Given the description of an element on the screen output the (x, y) to click on. 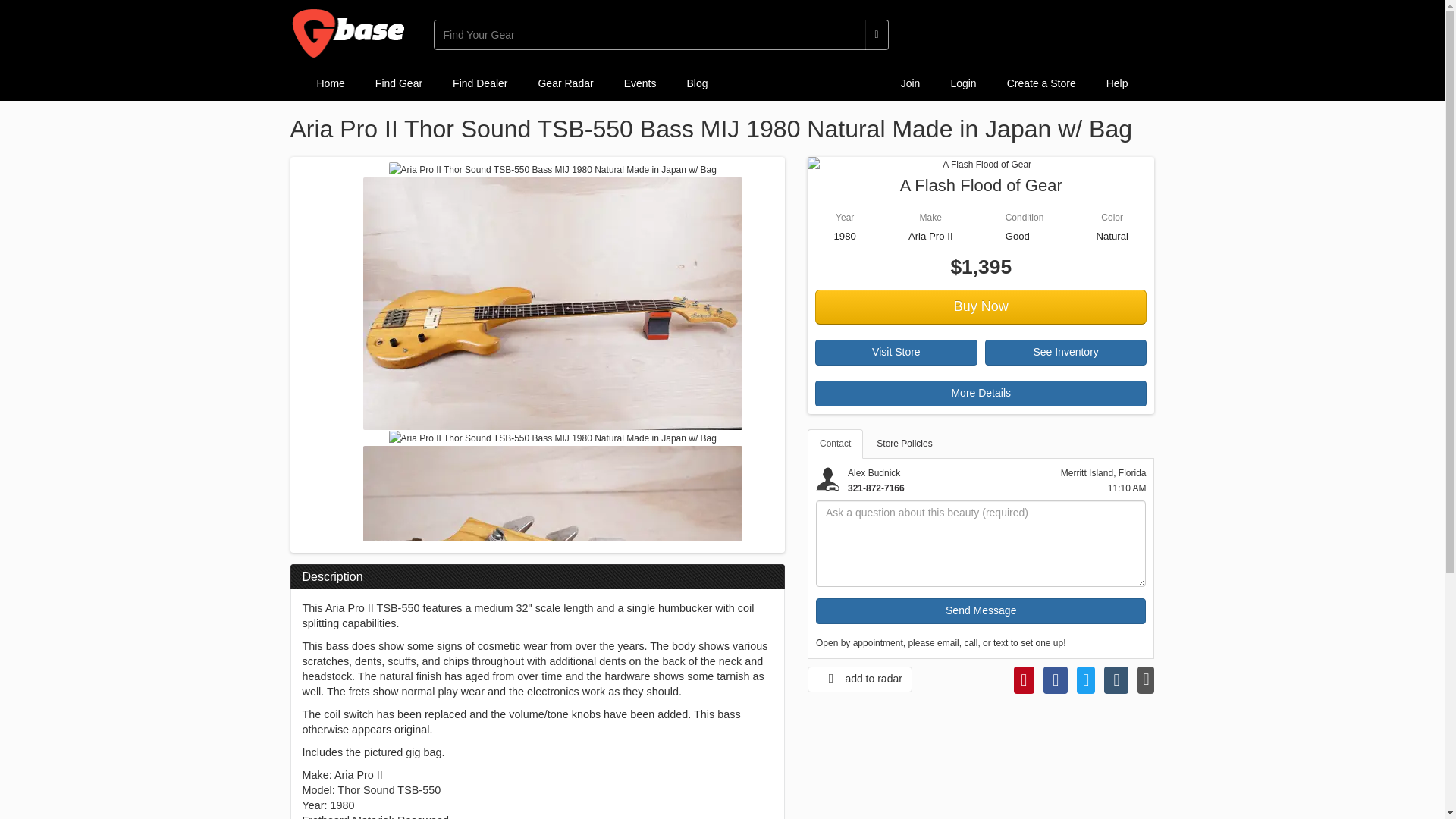
Store Policies (903, 443)
Blog (696, 83)
Gear Radar (565, 83)
321-872-7166 (875, 488)
Home (330, 83)
More Details (981, 393)
add to radar (860, 679)
Events (639, 83)
Visit Store (895, 352)
Find Dealer (480, 83)
